Given the description of an element on the screen output the (x, y) to click on. 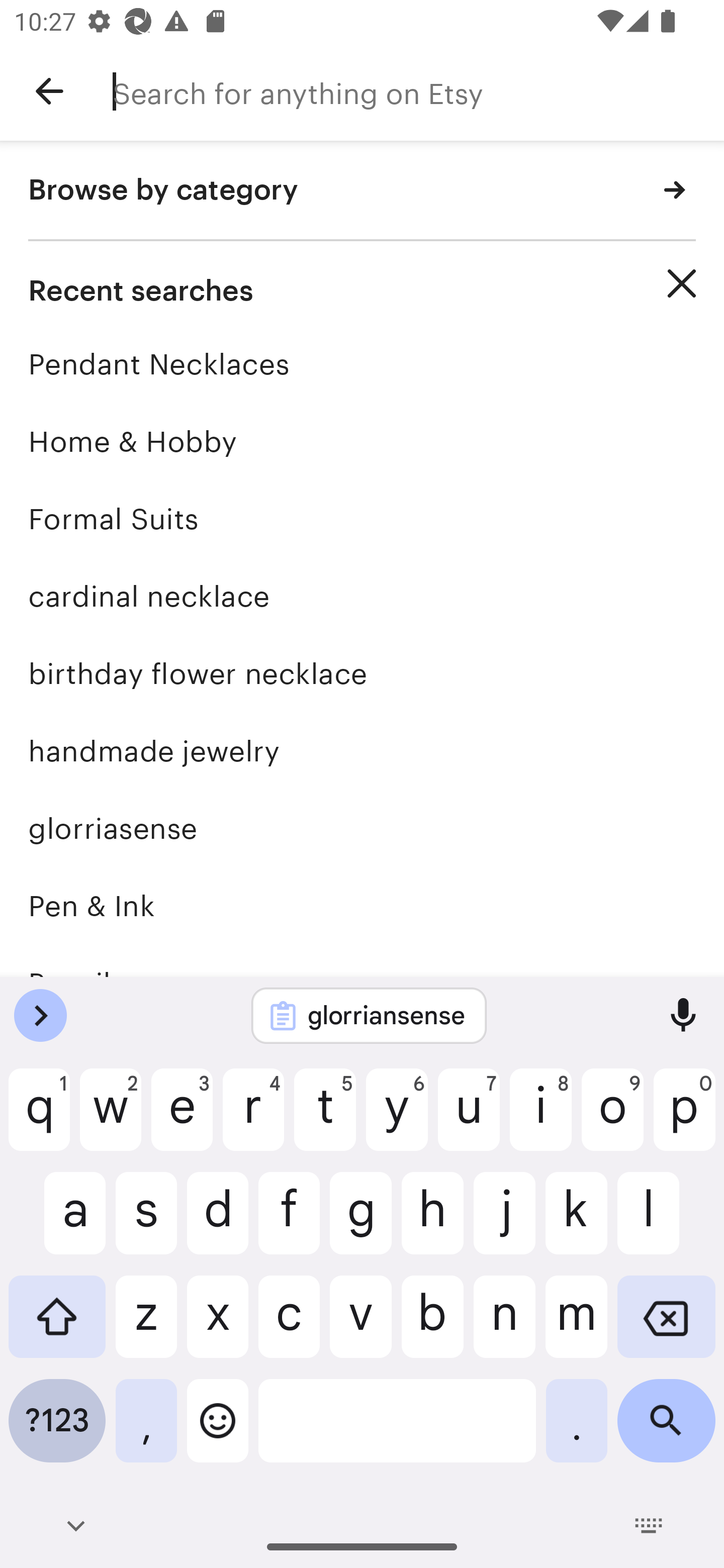
Navigate up (49, 91)
Search for anything on Etsy (418, 91)
Browse by category (362, 191)
Clear (681, 283)
Pendant Necklaces (362, 364)
Home & Hobby (362, 440)
Formal Suits (362, 518)
cardinal necklace (362, 596)
birthday flower necklace (362, 673)
handmade jewelry (362, 750)
glorriasense (362, 828)
Pen & Ink (362, 906)
